Given the description of an element on the screen output the (x, y) to click on. 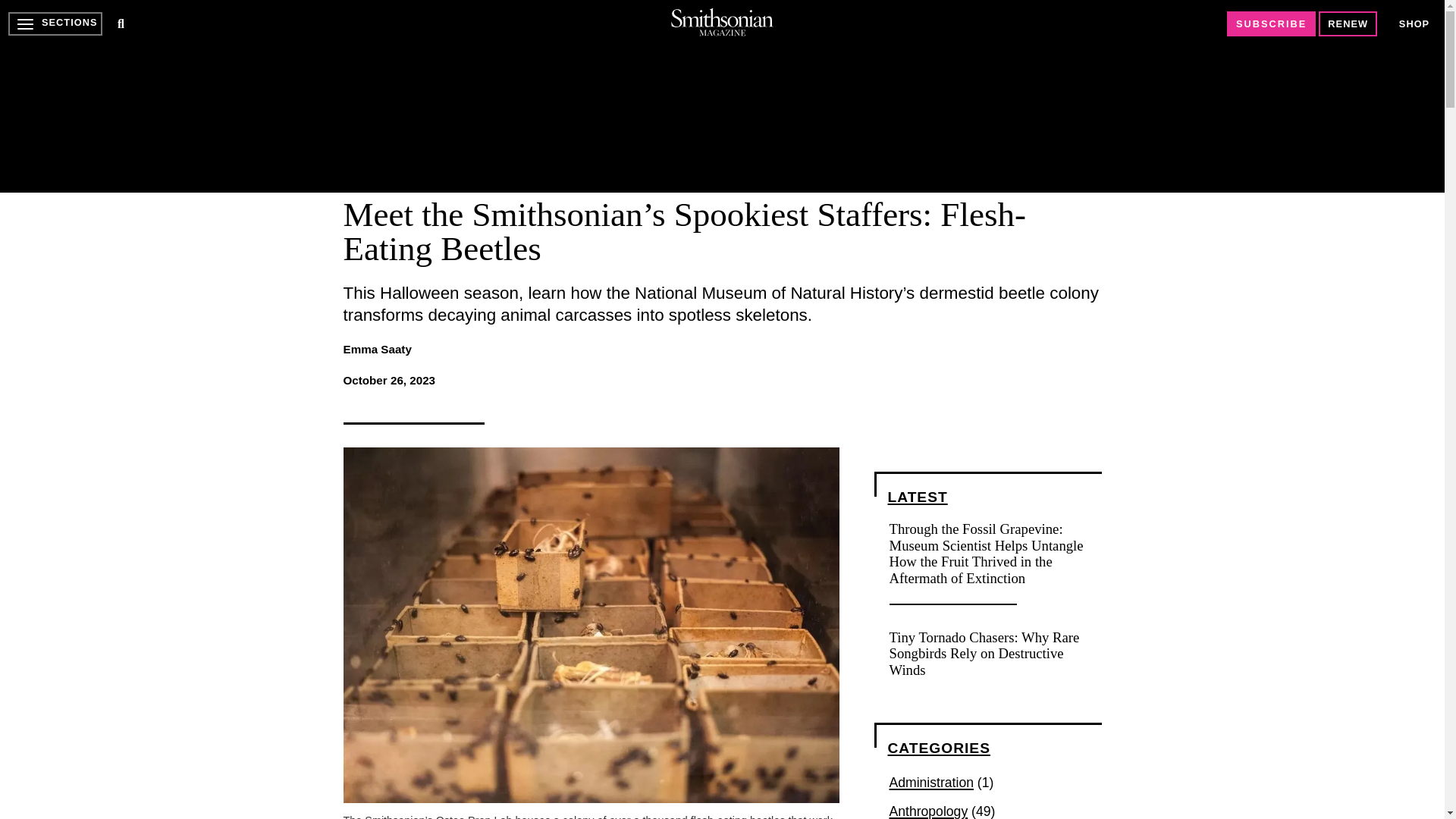
RENEW (1347, 23)
SHOP (1413, 23)
RENEW (1348, 23)
SHOP (1414, 23)
SECTIONS (55, 23)
SUBSCRIBE (1271, 23)
SUBSCRIBE (1271, 23)
